Given the description of an element on the screen output the (x, y) to click on. 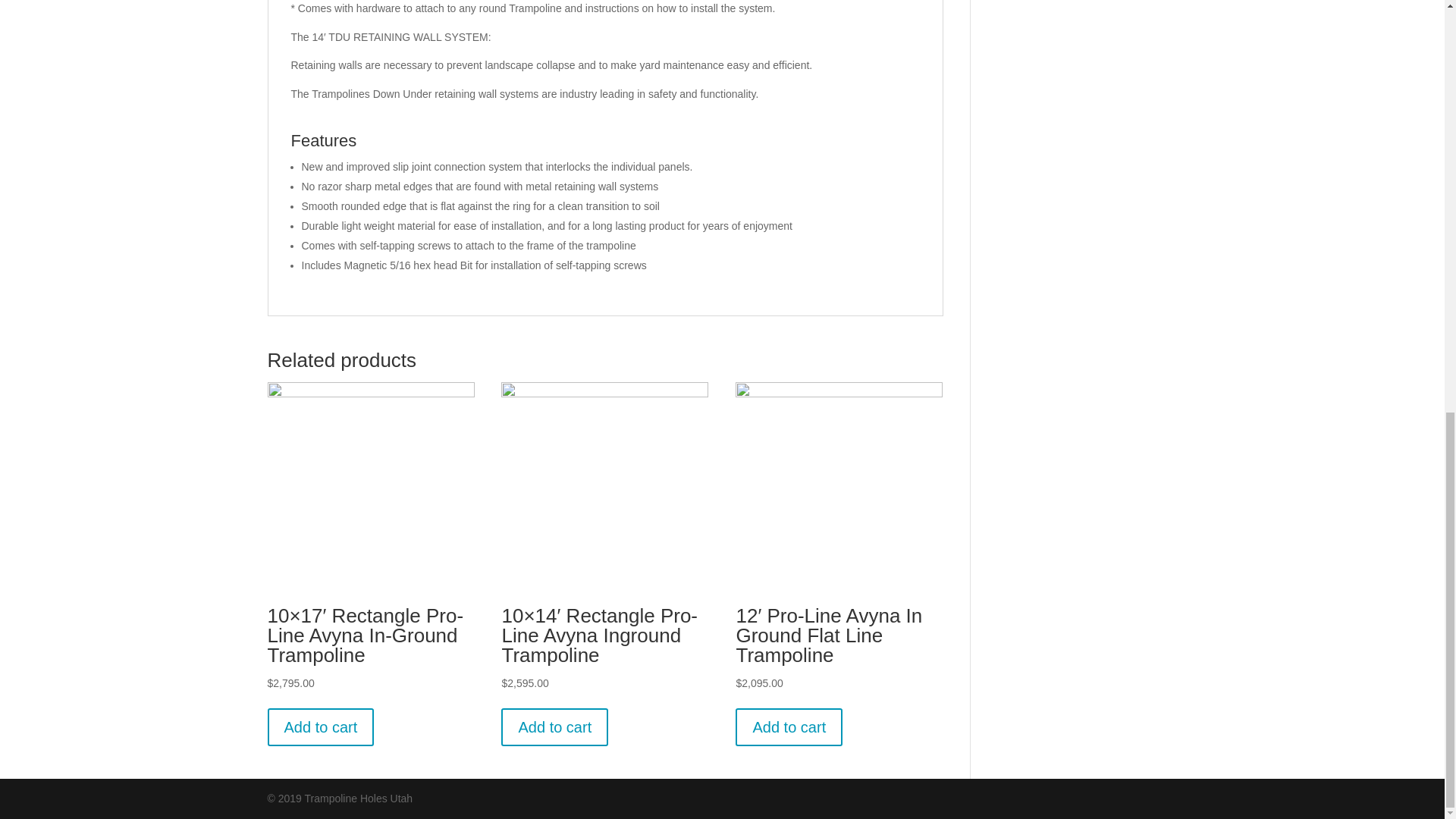
Add to cart (789, 727)
Add to cart (554, 727)
Add to cart (320, 727)
